Given the description of an element on the screen output the (x, y) to click on. 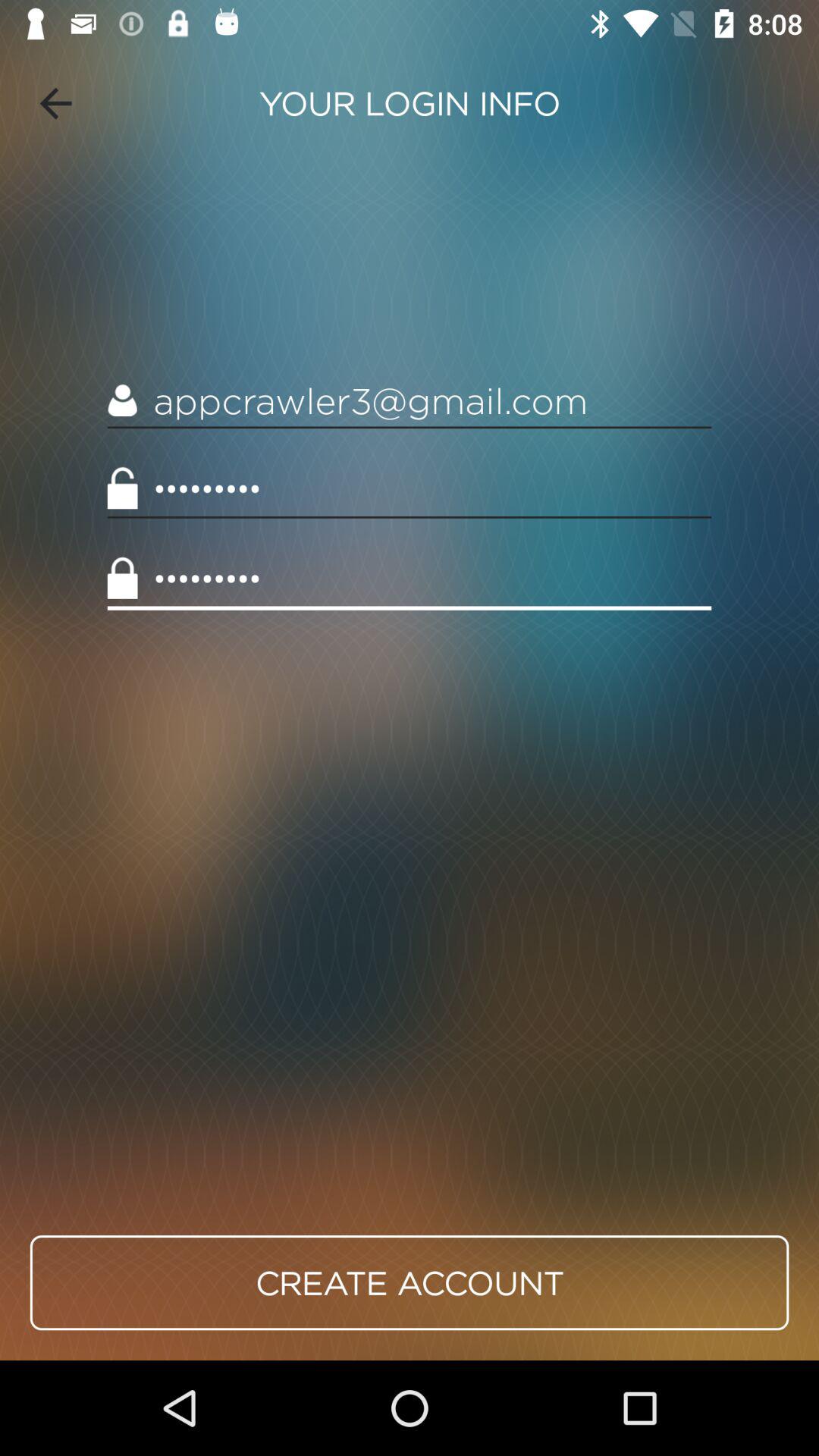
launch the icon below crowd3116 (409, 1282)
